Given the description of an element on the screen output the (x, y) to click on. 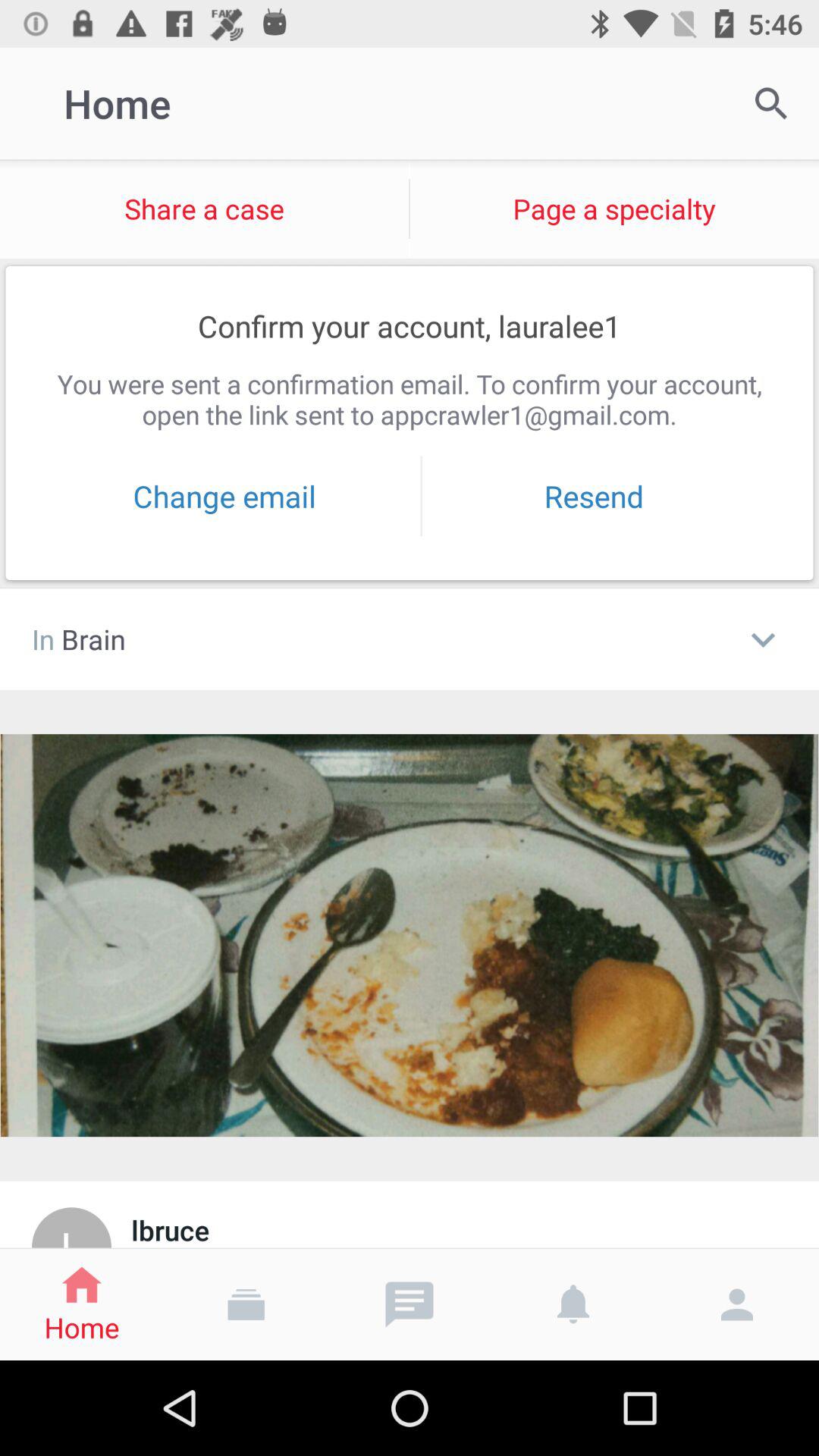
scroll until page a specialty item (614, 208)
